Given the description of an element on the screen output the (x, y) to click on. 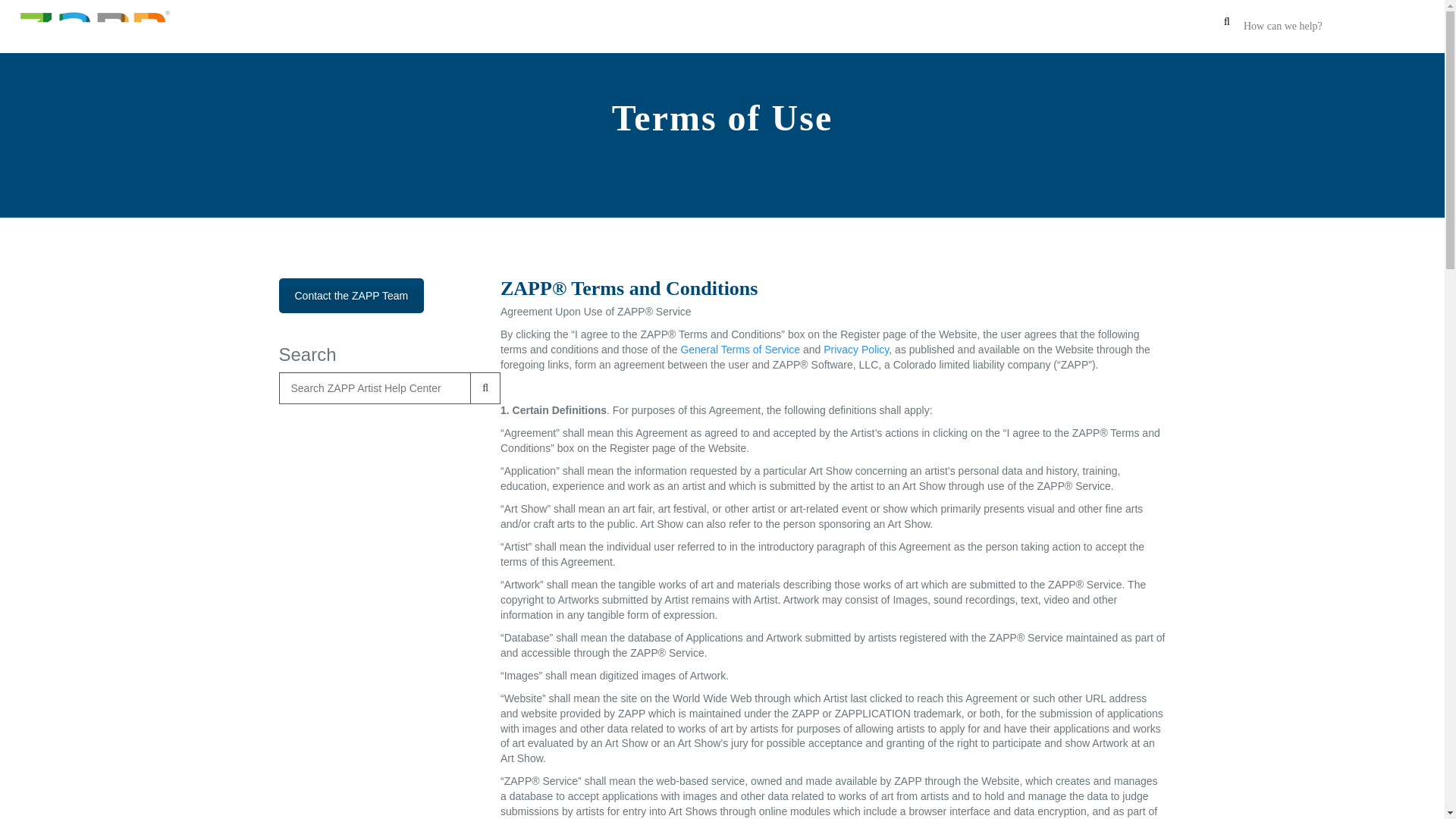
Contact the ZAPP Team (352, 295)
Privacy Policy (856, 349)
General Terms of Service (739, 349)
